Given the description of an element on the screen output the (x, y) to click on. 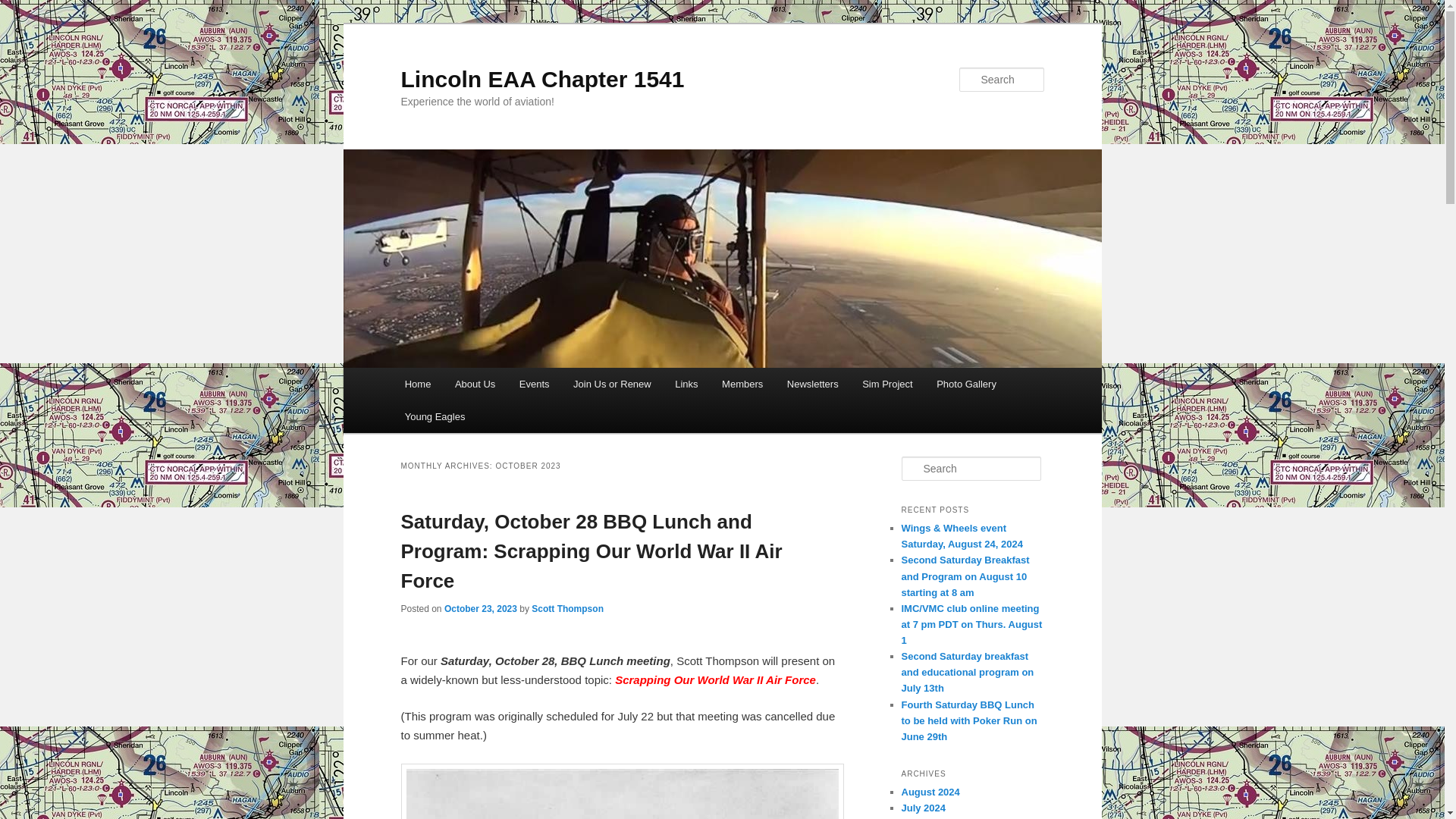
Join Us or Renew (611, 383)
Young Eagles (435, 416)
16:35 (480, 608)
Events (533, 383)
Search (24, 8)
Search (21, 11)
October 23, 2023 (480, 608)
Photo Gallery (965, 383)
